Given the description of an element on the screen output the (x, y) to click on. 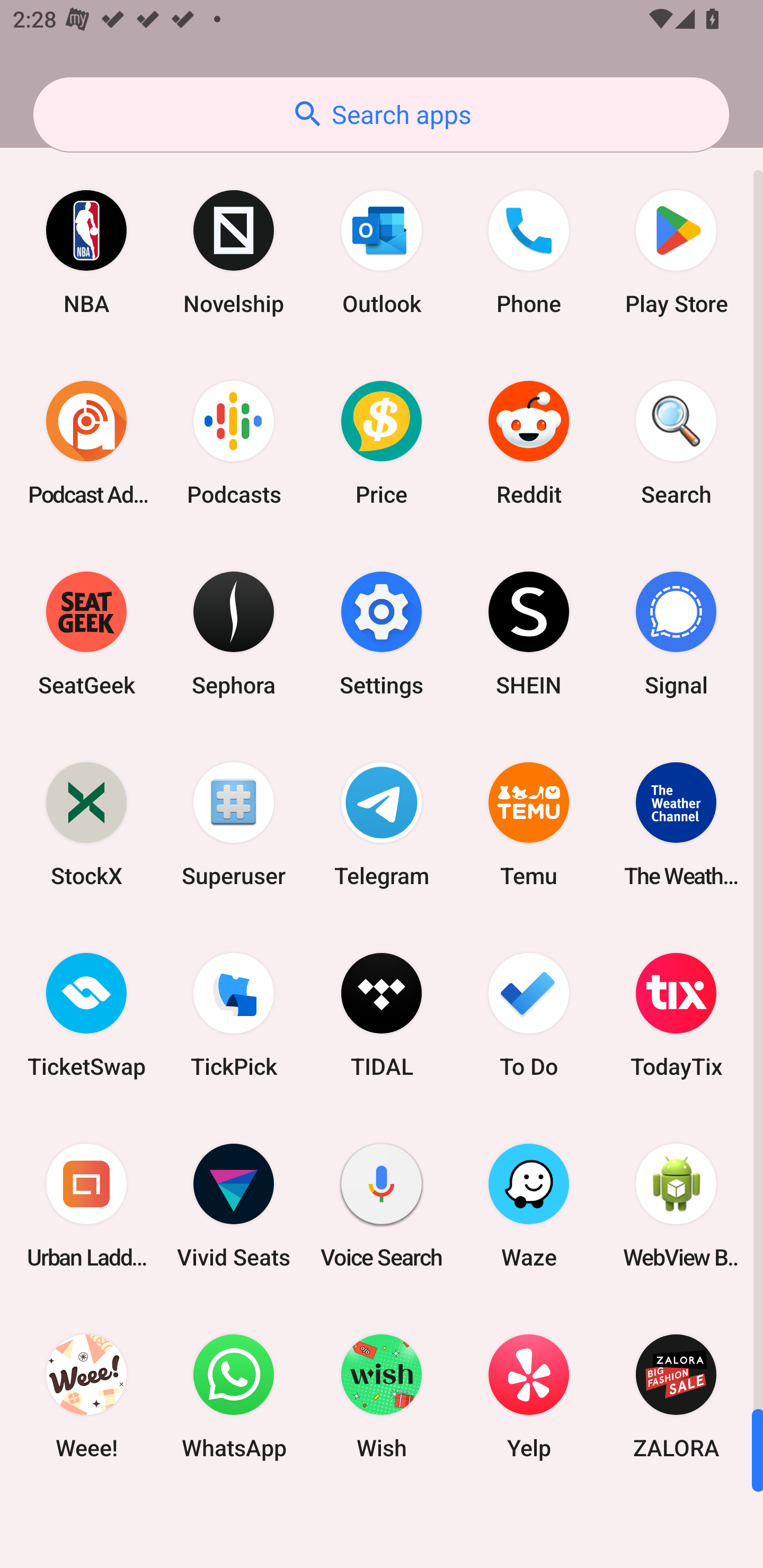
Signal (676, 633)
